Given the description of an element on the screen output the (x, y) to click on. 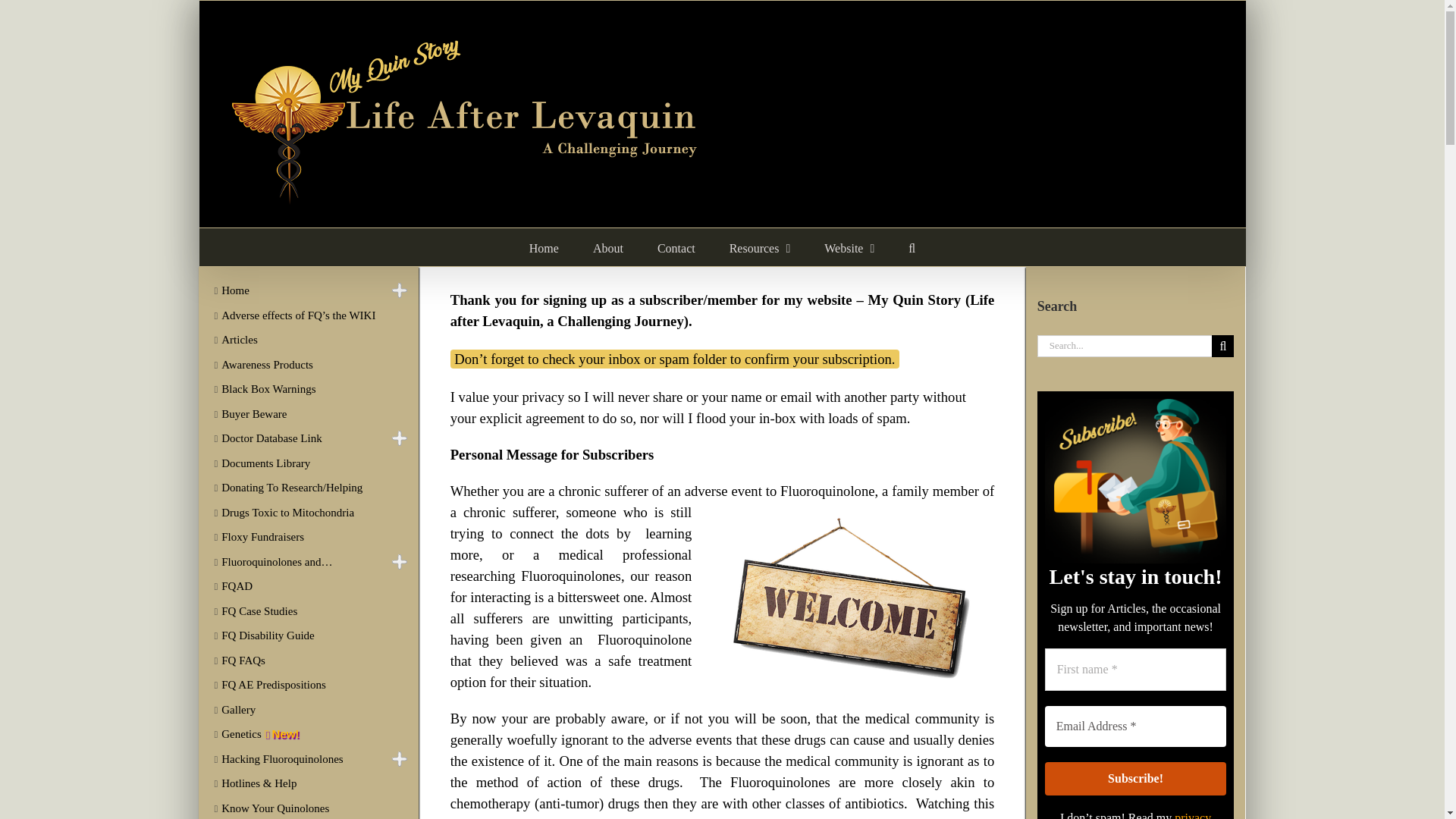
First name (1136, 669)
Contact (676, 247)
Website (849, 247)
Resources (759, 247)
Email Address (1136, 725)
Subscribe! (1136, 778)
